Given the description of an element on the screen output the (x, y) to click on. 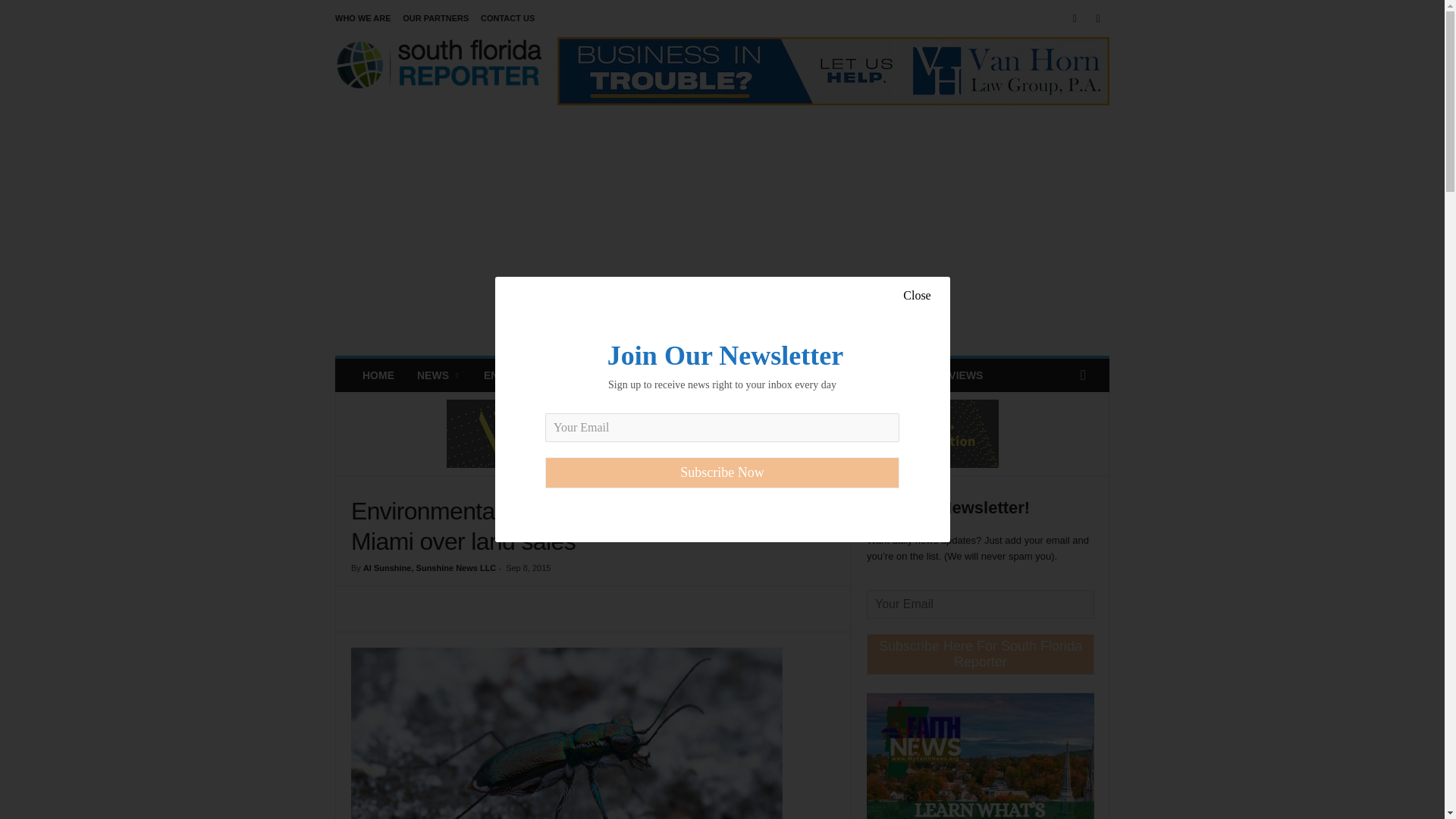
TODAY IS (800, 375)
WHO WE ARE (362, 17)
OUR PARTNERS (435, 17)
CONTACT US (507, 17)
WINE REVIEWS (942, 375)
NEWS (438, 375)
HOME (378, 375)
ENTERTAINMENT (528, 375)
South Florida Reporter (437, 70)
Al Sunshine, Sunshine News LLC (429, 567)
ENVIRONMENTAL (642, 375)
VIDEO (863, 375)
HEALTH (732, 375)
